Given the description of an element on the screen output the (x, y) to click on. 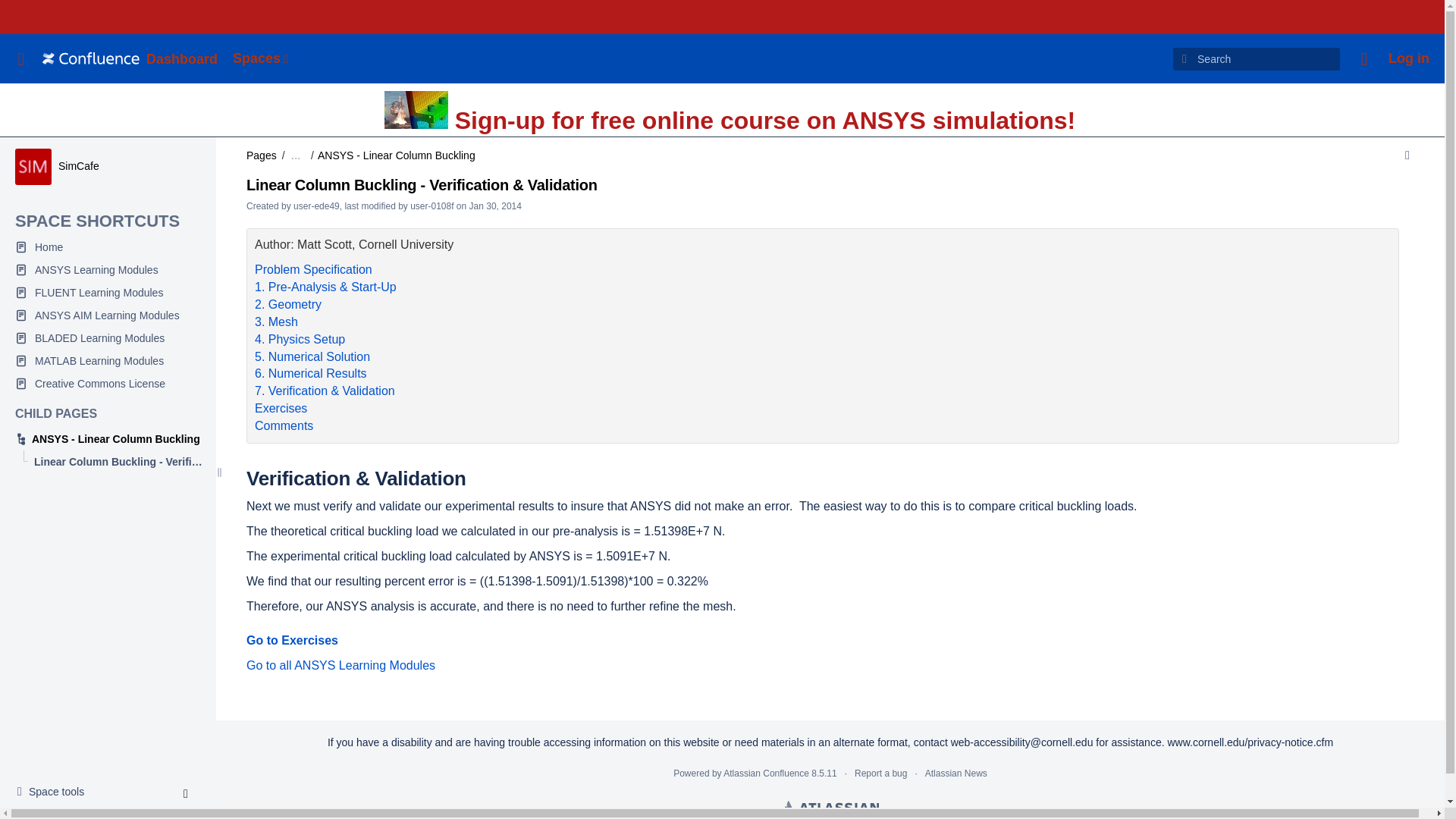
FLUENT Learning Modules (107, 292)
ANSYS - Linear Column Buckling (107, 438)
Creative Commons License (107, 383)
MATLAB Learning Modules (107, 360)
Log in (1408, 59)
ANSYS AIM Learning Modules (107, 314)
Help (1364, 59)
ANSYS - Linear Column Buckling (54, 792)
ANSYS Learning Modules (107, 438)
SimCafe (107, 269)
SimCafe (78, 165)
SimCafe (78, 165)
Spaces (32, 166)
Linked Applications (261, 59)
